Given the description of an element on the screen output the (x, y) to click on. 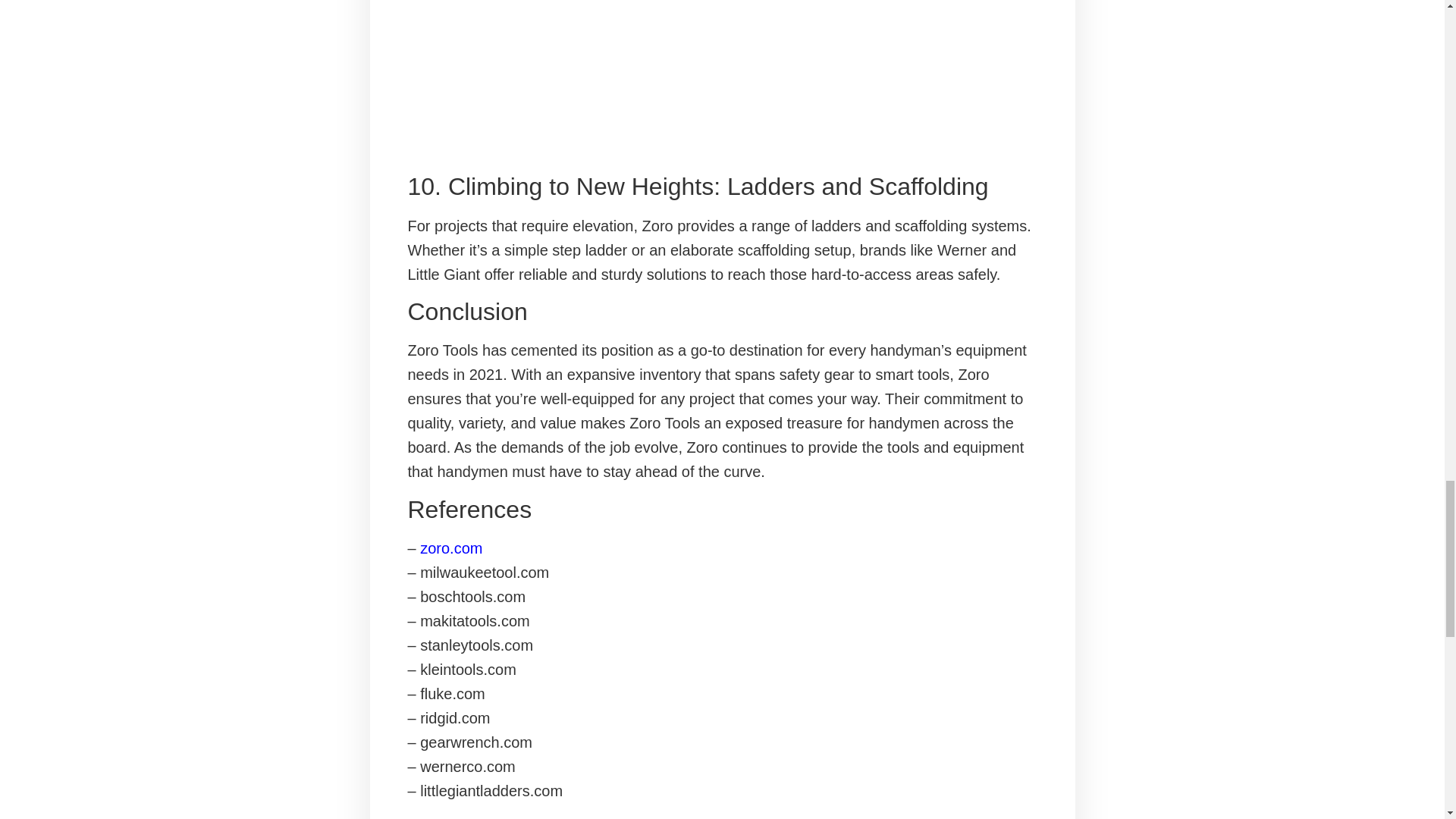
References (721, 509)
Advertisement (721, 80)
Conclusion (721, 311)
zoro.com (450, 547)
10. Climbing to New Heights: Ladders and Scaffolding (721, 185)
